Given the description of an element on the screen output the (x, y) to click on. 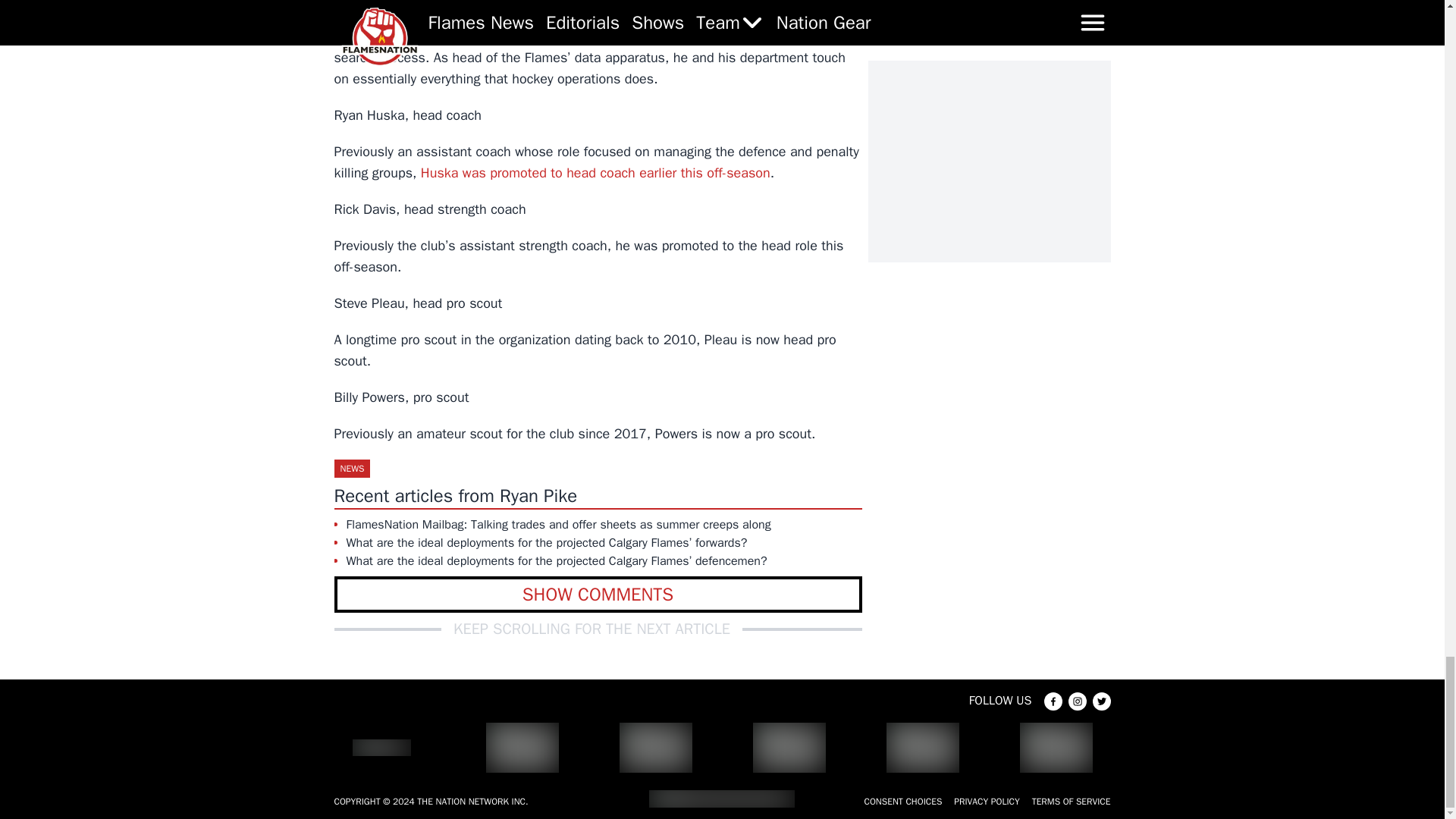
Huska was promoted to head coach earlier this off-season (595, 172)
SHOW COMMENTS (597, 594)
NEWS (351, 468)
